Given the description of an element on the screen output the (x, y) to click on. 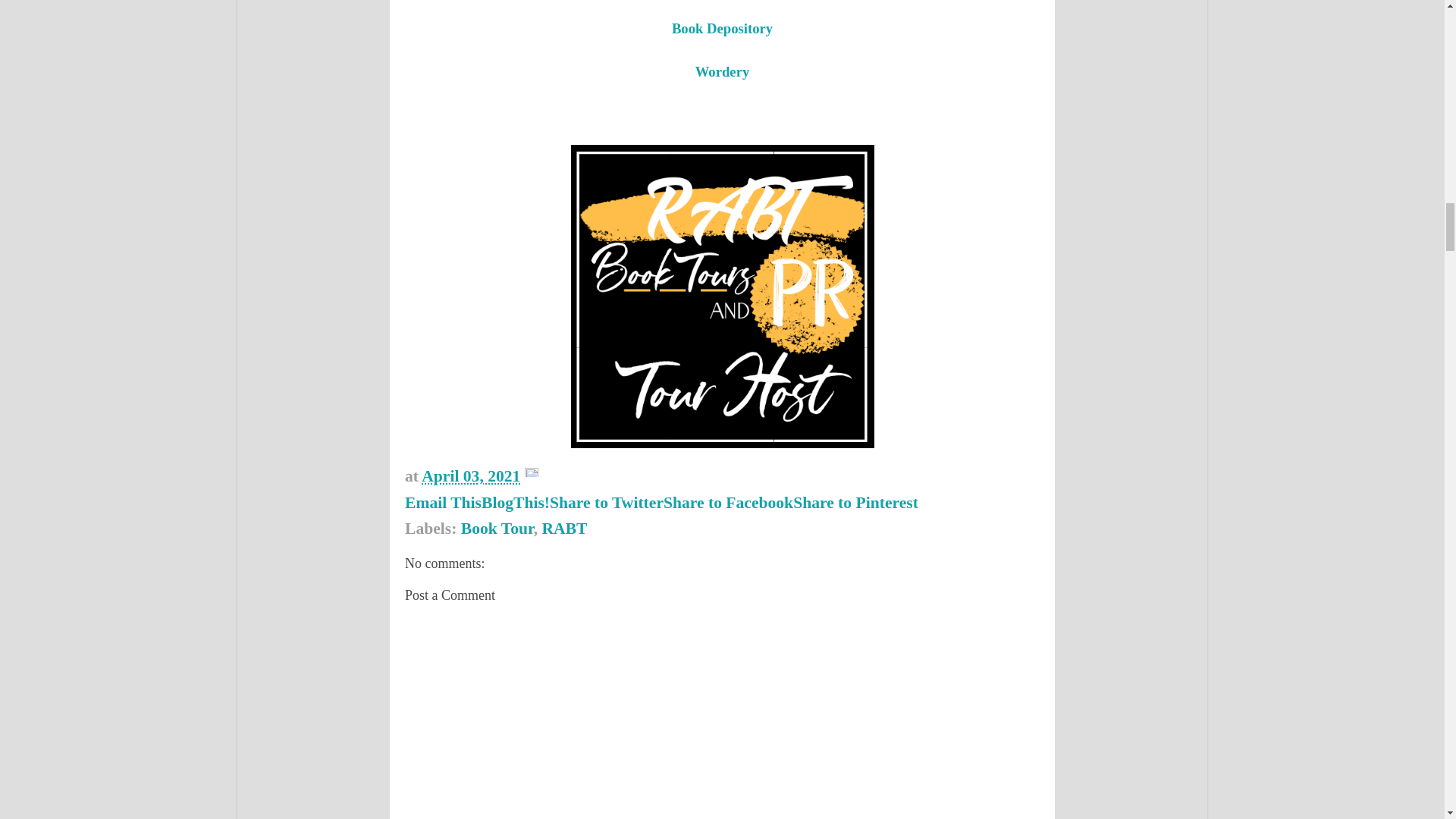
Share to Pinterest (855, 502)
Share to Pinterest (855, 502)
Share to Facebook (728, 502)
Wordery (722, 71)
Share to Facebook (728, 502)
April 03, 2021 (470, 475)
Share to Twitter (606, 502)
Email This (442, 502)
BlogThis! (515, 502)
Share to Twitter (606, 502)
Book Depository (722, 28)
permanent link (470, 475)
BlogThis! (515, 502)
Book Tour (497, 528)
Email This (442, 502)
